Given the description of an element on the screen output the (x, y) to click on. 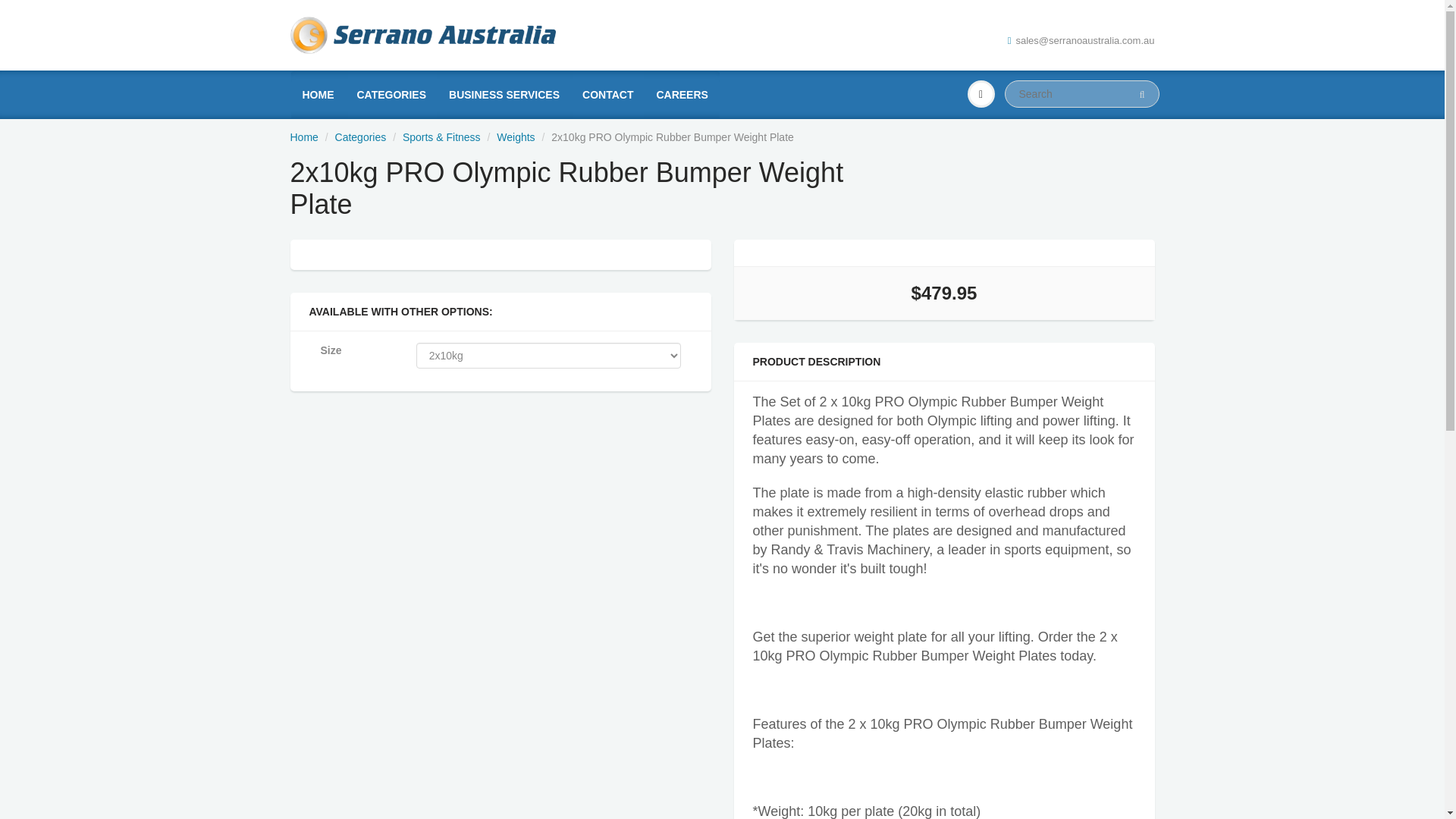
HOME (318, 94)
CONTACT (607, 94)
BUSINESS SERVICES (504, 94)
Home (303, 137)
CAREERS (682, 94)
Categories (360, 137)
CATEGORIES (392, 94)
Weights (515, 137)
Home (303, 137)
